Given the description of an element on the screen output the (x, y) to click on. 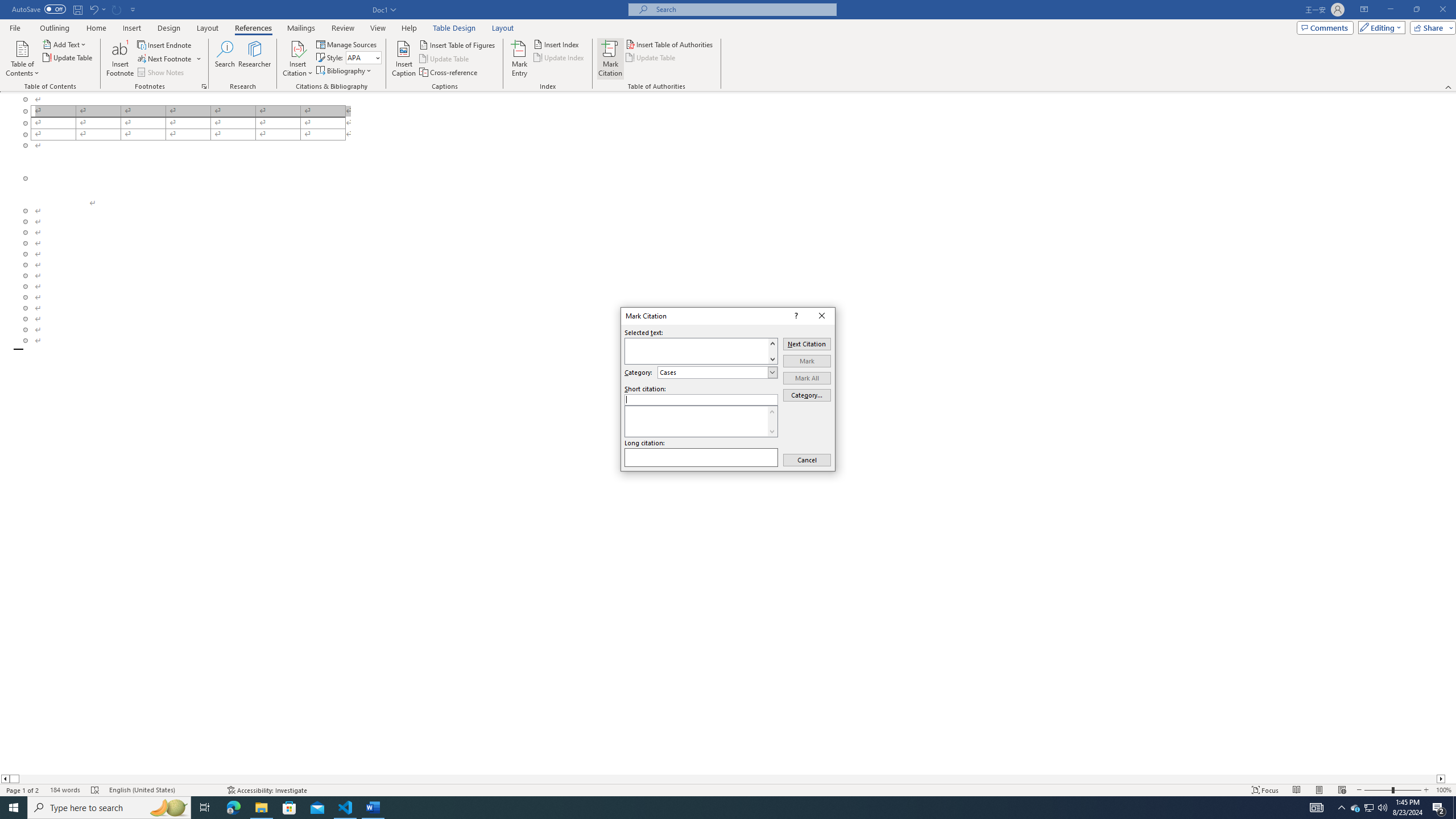
Vertical (772, 350)
AutomationID: 29 (772, 421)
Context help (794, 316)
Column right (1441, 778)
Style (363, 56)
Mark All (807, 377)
File Explorer - 1 running window (261, 807)
